Given the description of an element on the screen output the (x, y) to click on. 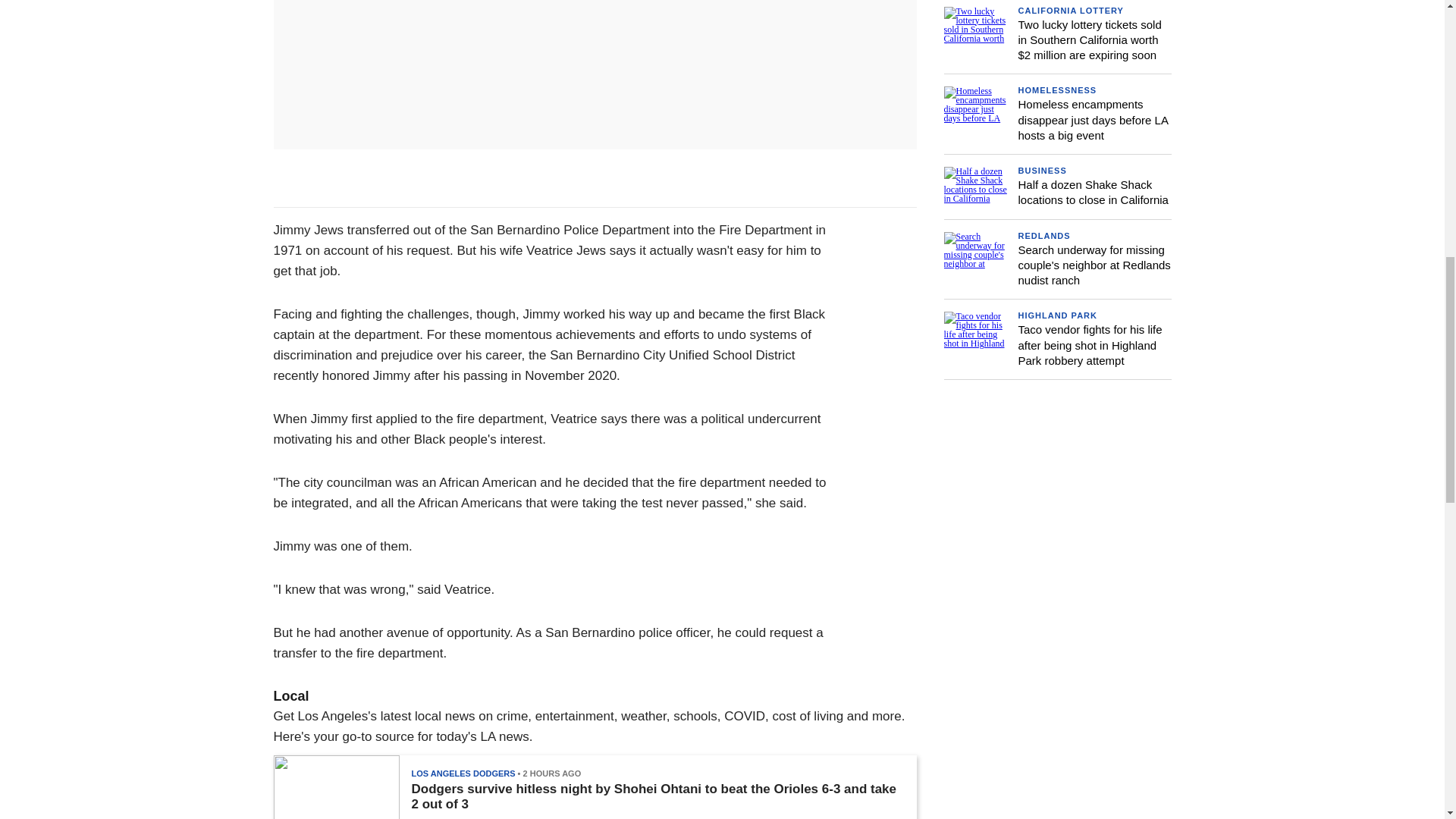
LOS ANGELES DODGERS (462, 773)
CALIFORNIA LOTTERY (1069, 10)
